Given the description of an element on the screen output the (x, y) to click on. 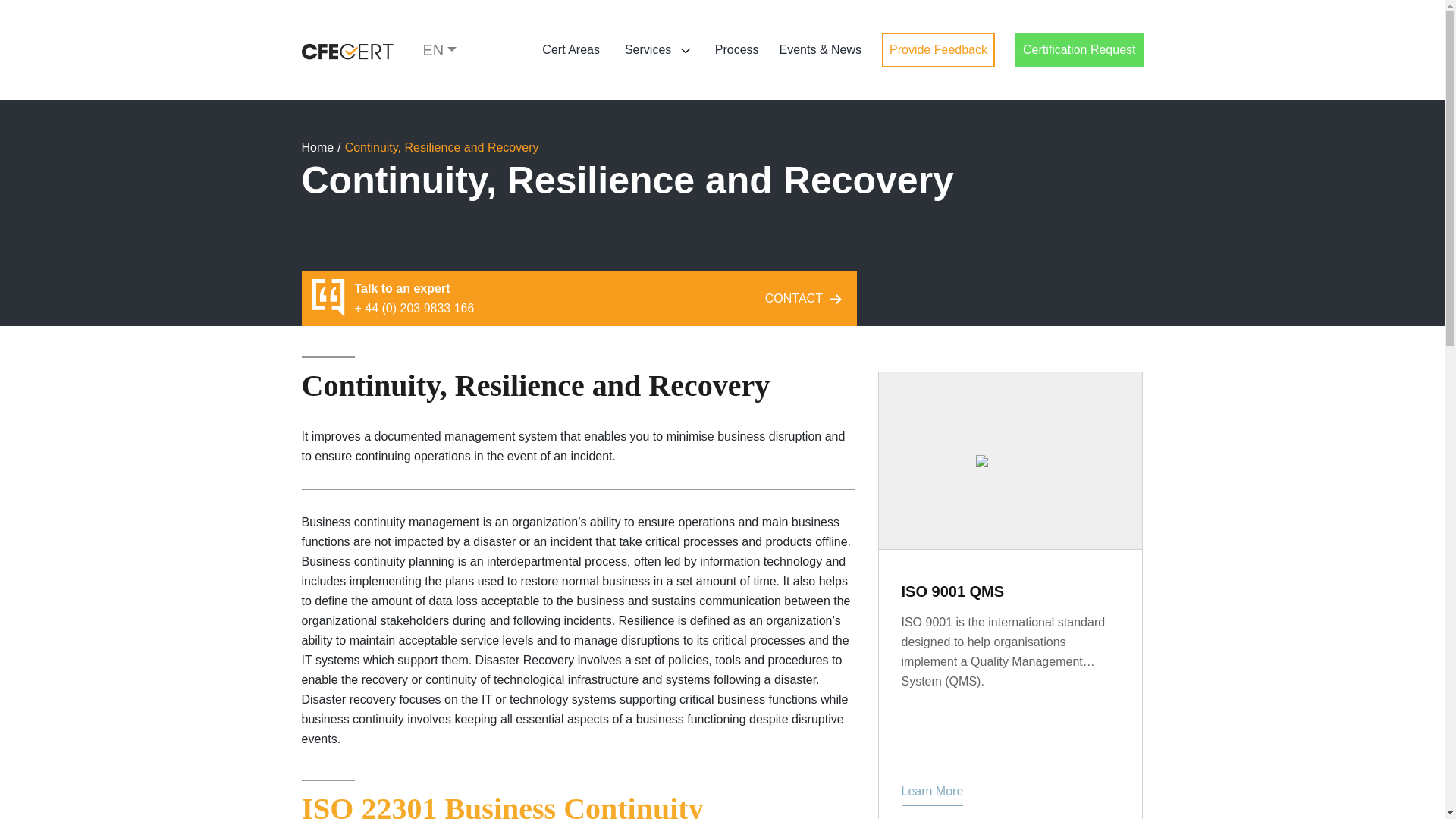
Learn More (931, 793)
EN (439, 50)
CONTACT (806, 297)
Services (657, 49)
Provide Feedback (938, 49)
Cert Areas (570, 49)
Process (736, 49)
Certification Request (1078, 49)
Home (317, 148)
